Given the description of an element on the screen output the (x, y) to click on. 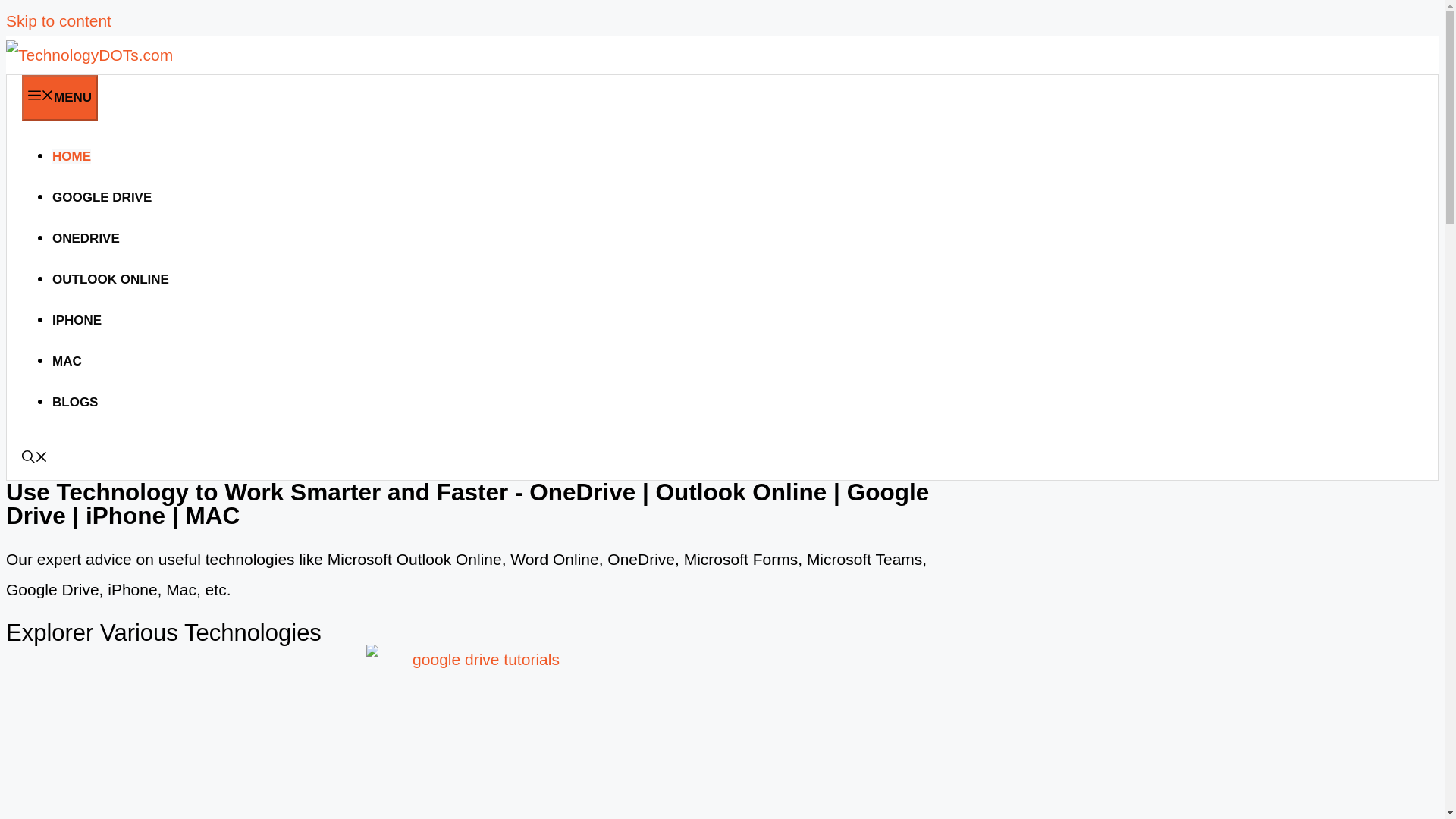
ONEDRIVE (85, 237)
MENU (59, 97)
MAC (66, 360)
IPHONE (76, 319)
BLOGS (74, 401)
HOME (71, 156)
OUTLOOK ONLINE (110, 278)
Skip to content (58, 20)
GOOGLE DRIVE (101, 197)
Skip to content (58, 20)
